Given the description of an element on the screen output the (x, y) to click on. 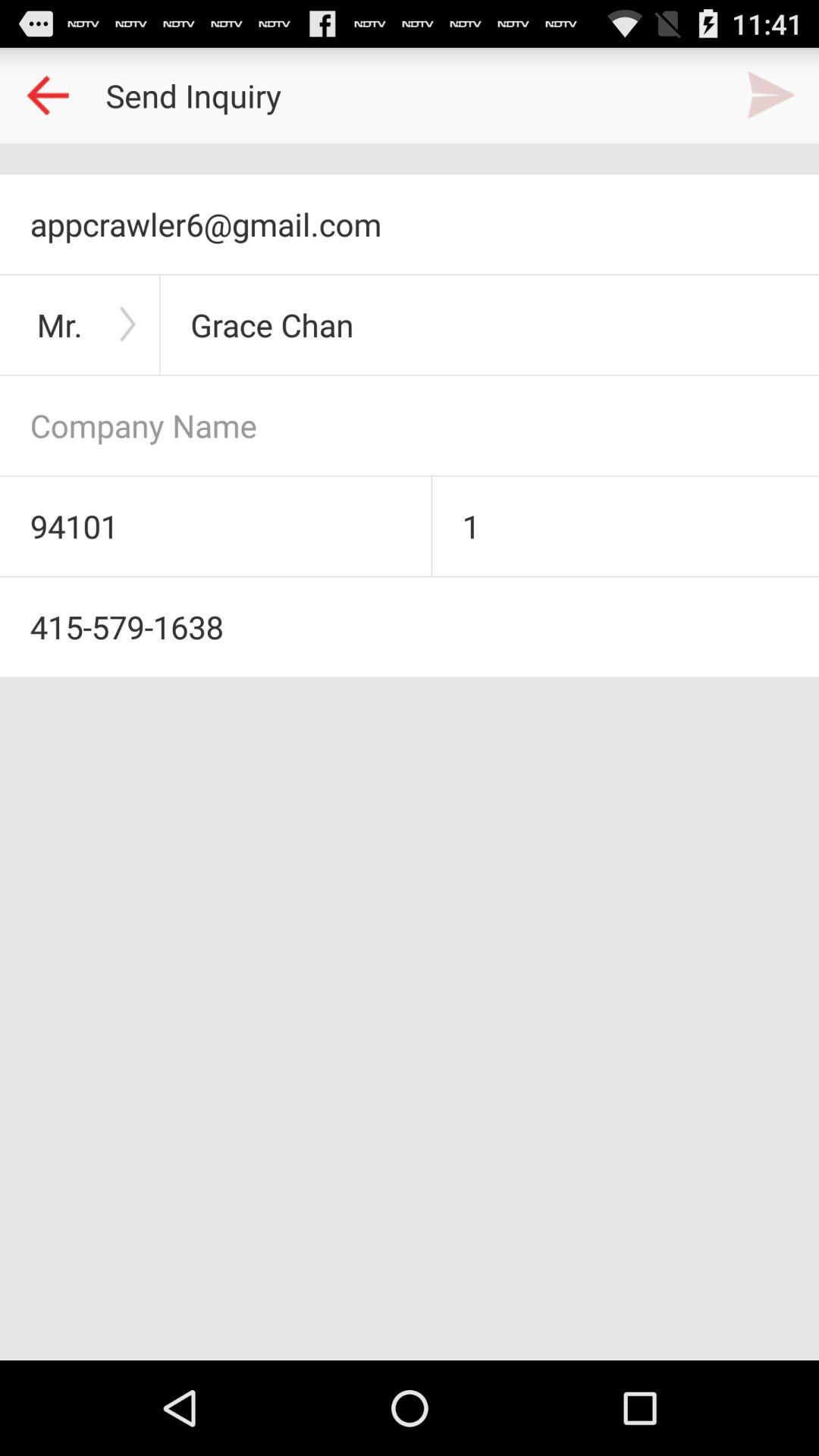
company name entering option (409, 425)
